Given the description of an element on the screen output the (x, y) to click on. 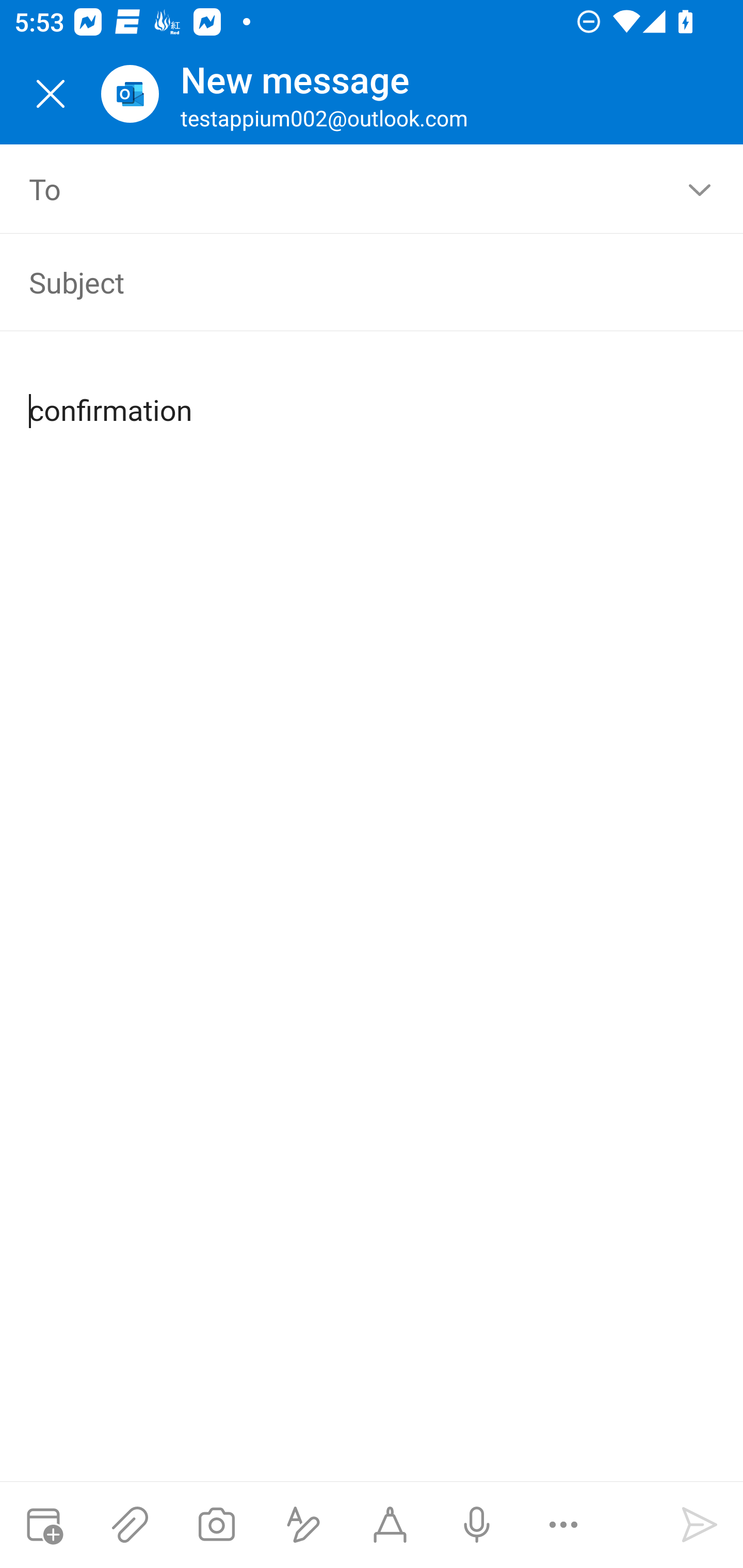
Close (50, 93)
Subject (342, 281)

confirmation (372, 394)
Attach meeting (43, 1524)
Attach files (129, 1524)
Take a photo (216, 1524)
Show formatting options (303, 1524)
Start Ink compose (389, 1524)
Dictation (476, 1524)
More options (563, 1524)
Send (699, 1524)
